Given the description of an element on the screen output the (x, y) to click on. 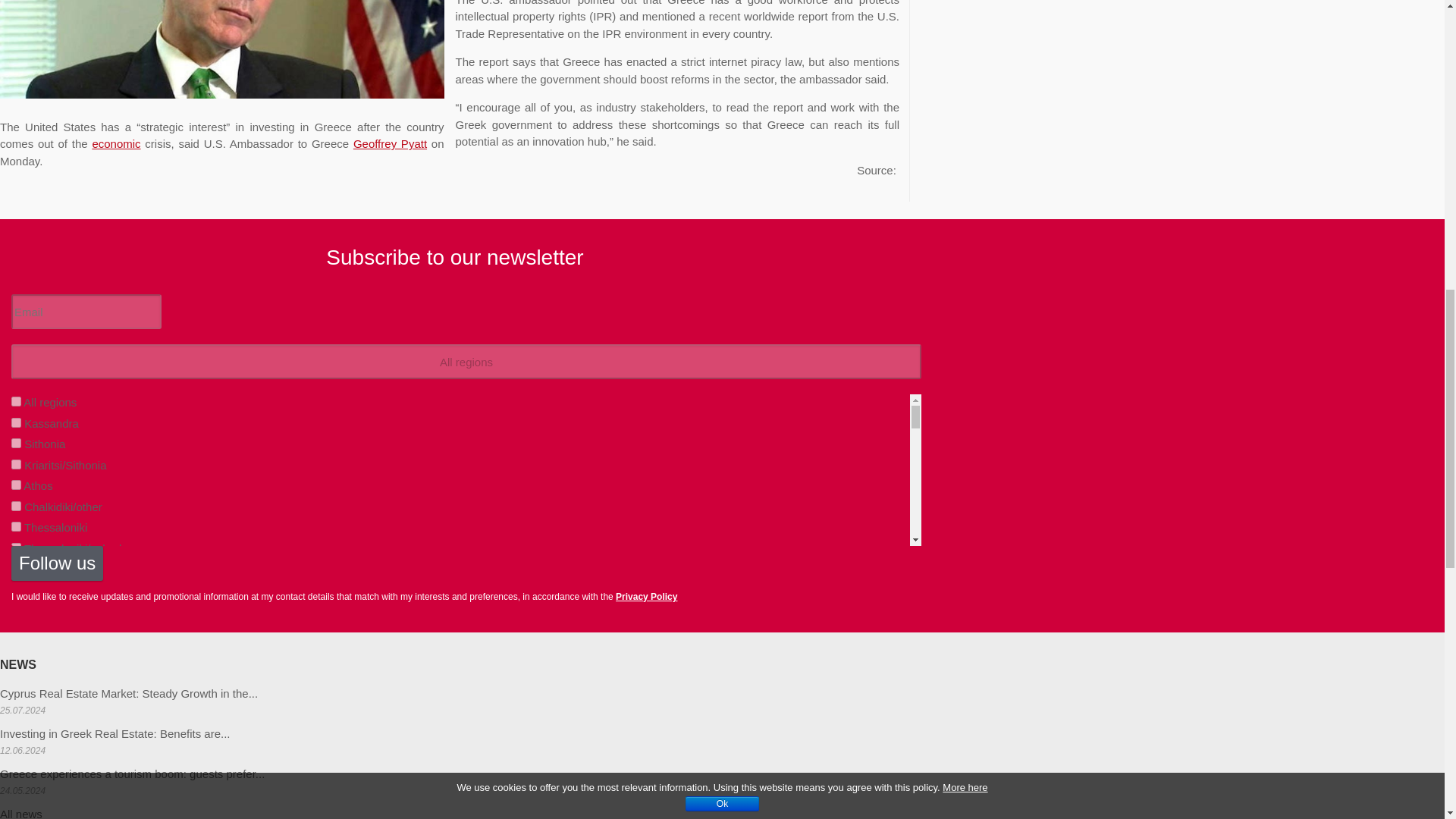
43 (16, 777)
4 (16, 526)
11 (16, 610)
8 (16, 631)
24 (16, 651)
18 (16, 673)
13 (16, 714)
3 (16, 484)
All regions (466, 361)
36 (16, 756)
2 (16, 442)
1 (16, 422)
22 (16, 547)
35 (16, 735)
6 (16, 568)
